Given the description of an element on the screen output the (x, y) to click on. 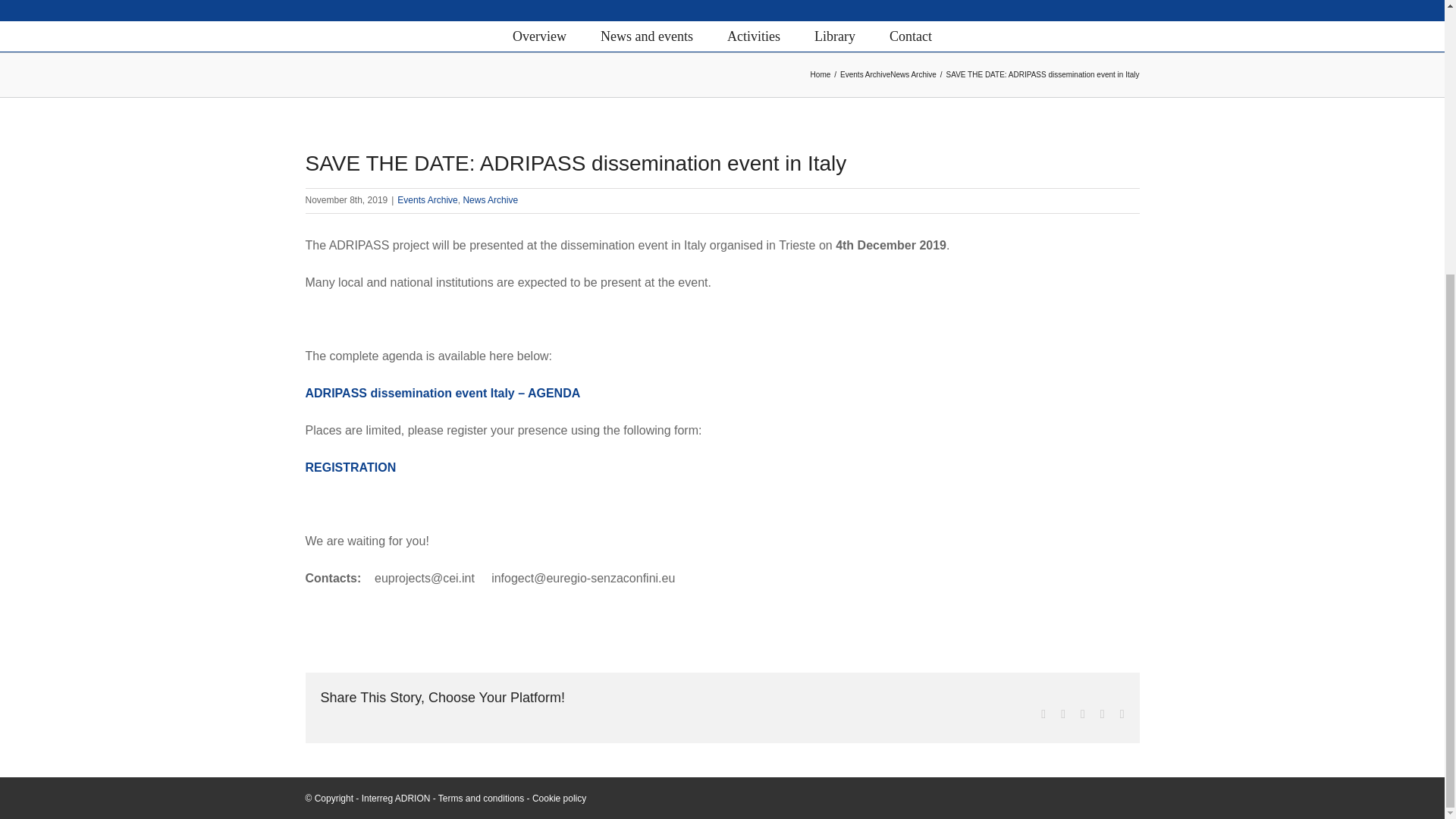
Events Archive (427, 199)
Library (834, 36)
Cookie policy (559, 798)
News Archive (912, 74)
Contact (910, 36)
Home (820, 74)
Activities (753, 36)
Events Archive (864, 74)
News Archive (490, 199)
Overview (539, 36)
Terms and conditions (481, 798)
News and events (646, 36)
REGISTRATION (350, 467)
